Given the description of an element on the screen output the (x, y) to click on. 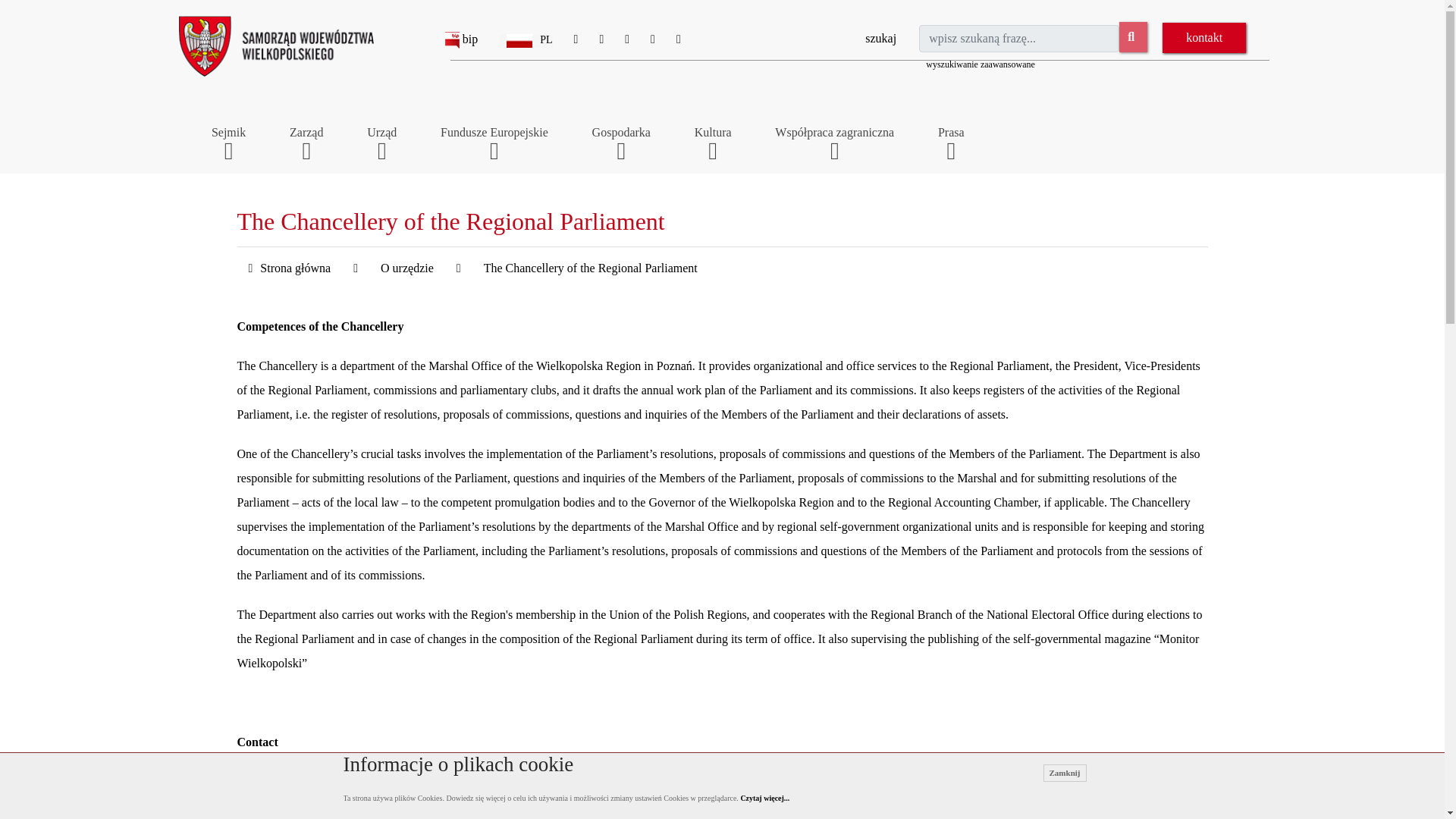
Sejmik (228, 132)
bip (461, 38)
kontakt (1203, 37)
wersja polska (525, 39)
PL (525, 39)
wyszukiwanie zaawansowane (980, 63)
Zamknij (1064, 773)
